Given the description of an element on the screen output the (x, y) to click on. 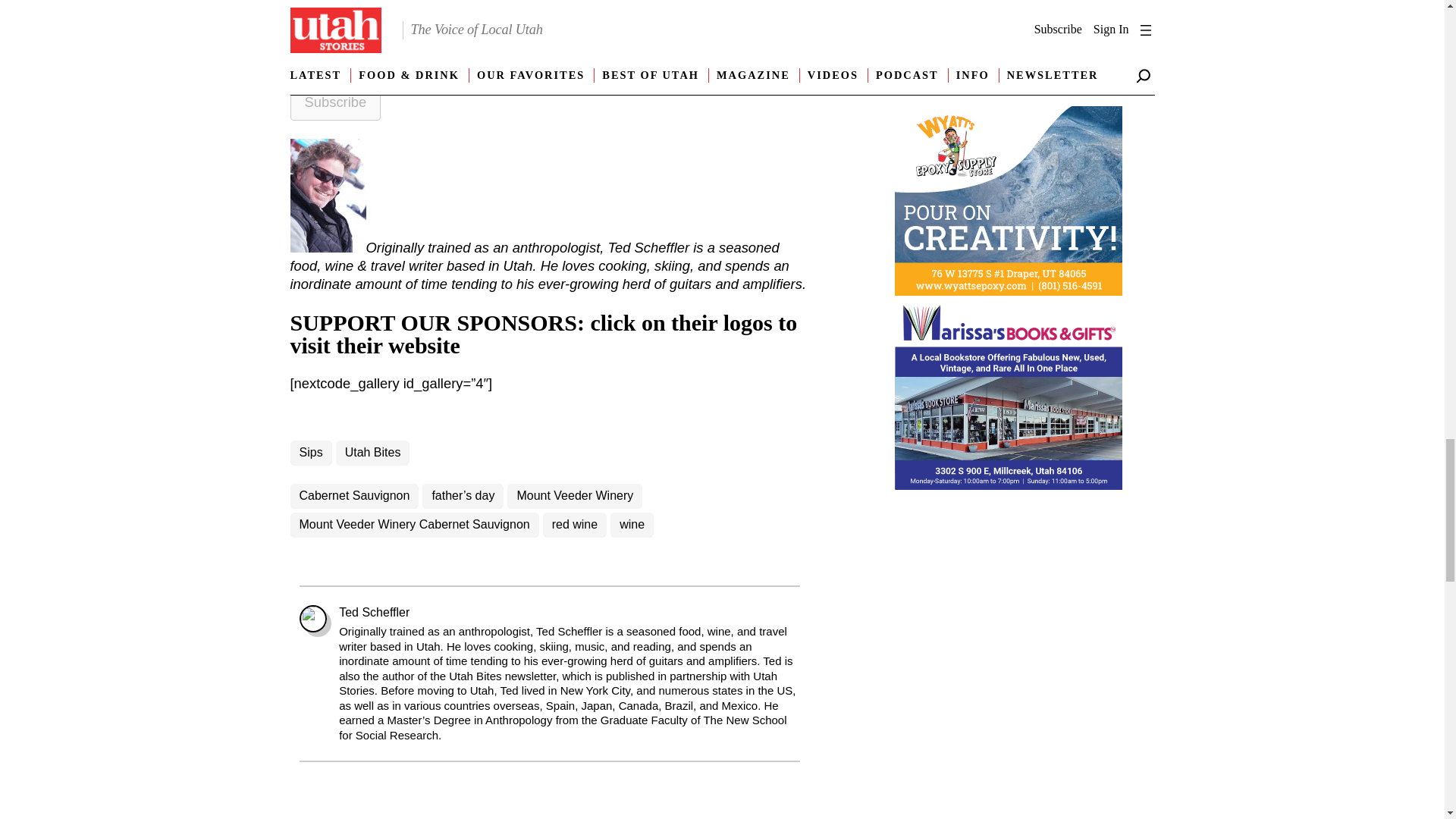
Subscribe (334, 101)
